Given the description of an element on the screen output the (x, y) to click on. 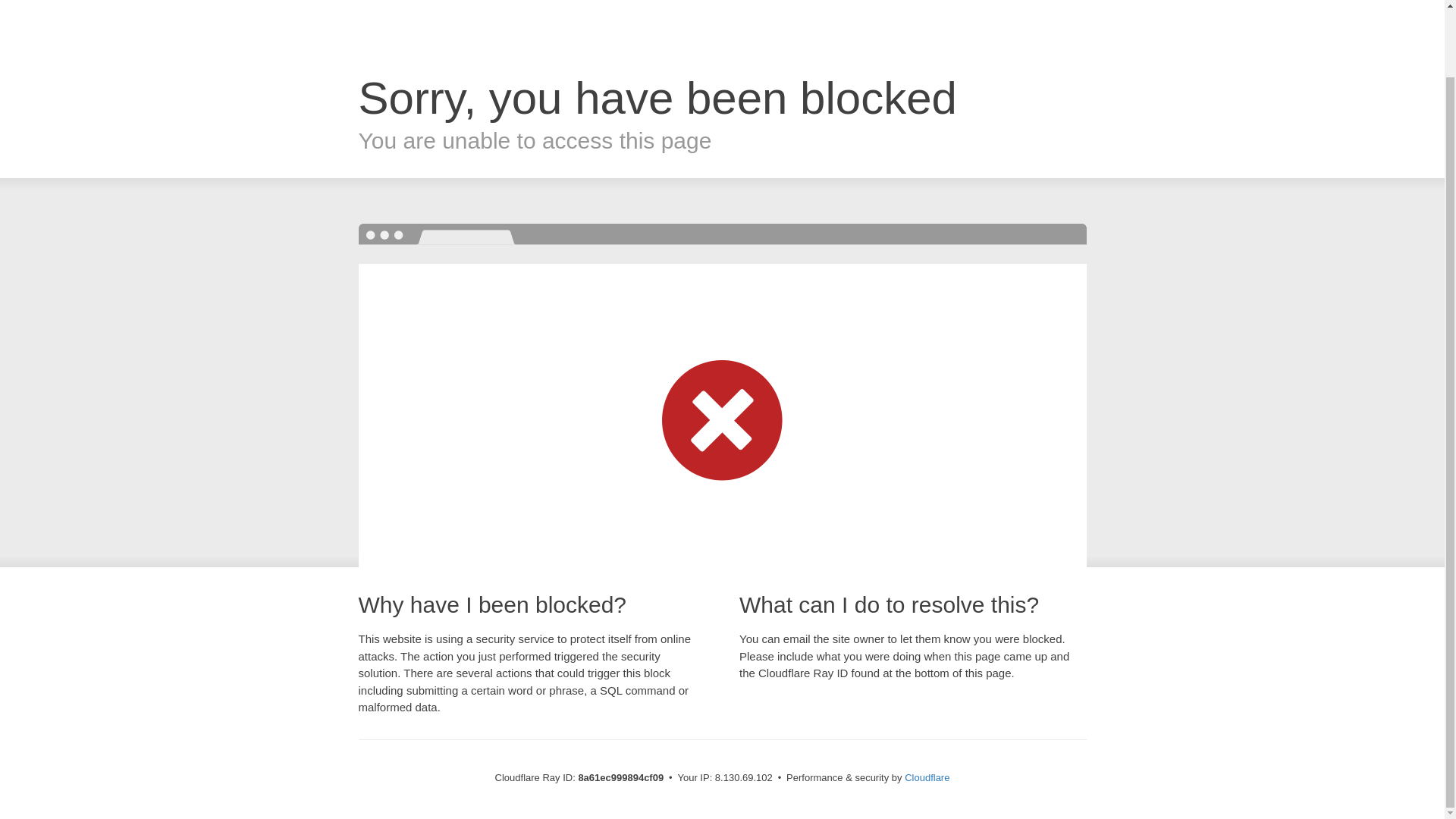
Cloudflare (926, 777)
